Given the description of an element on the screen output the (x, y) to click on. 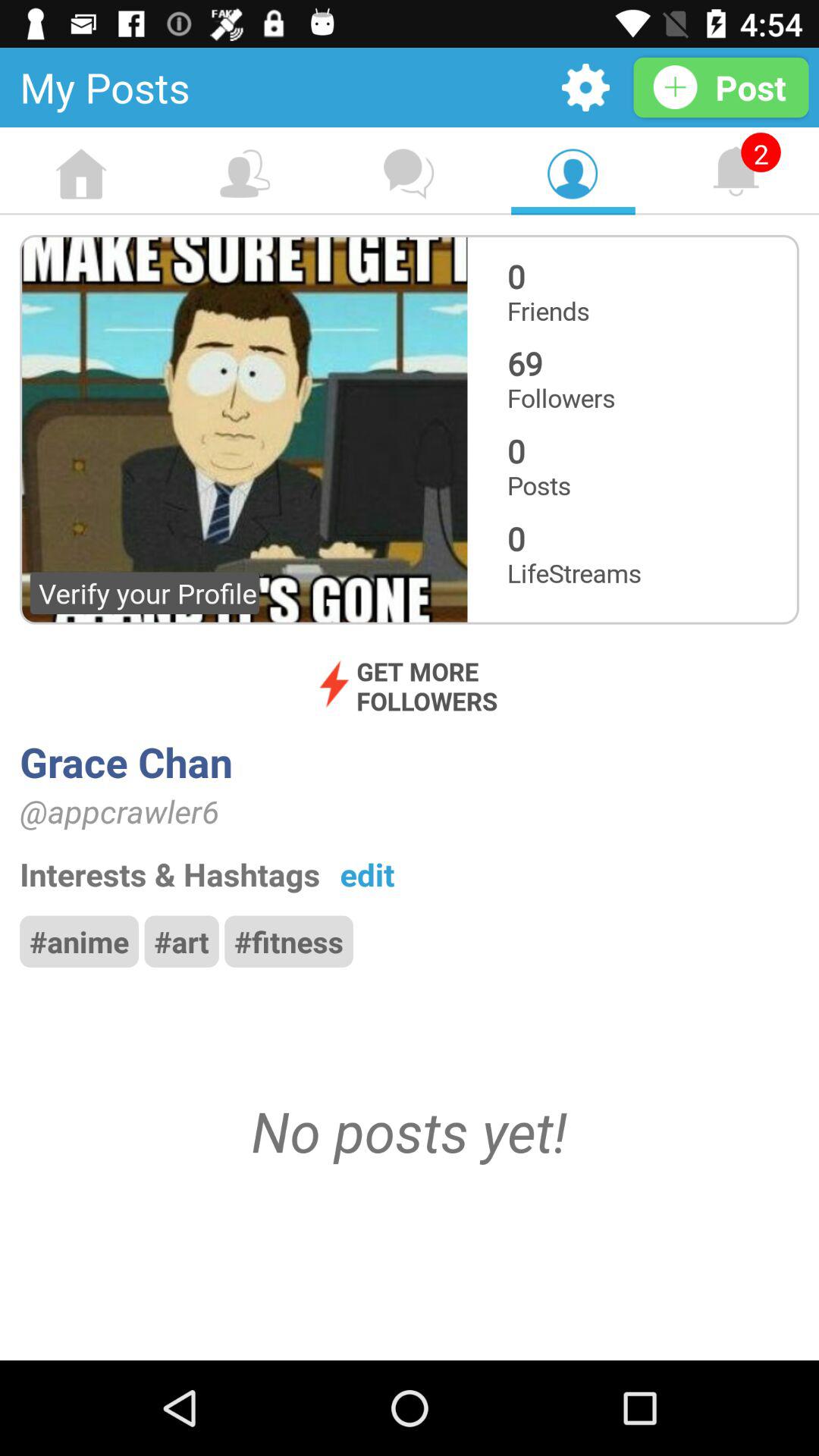
go to settings (585, 87)
